Given the description of an element on the screen output the (x, y) to click on. 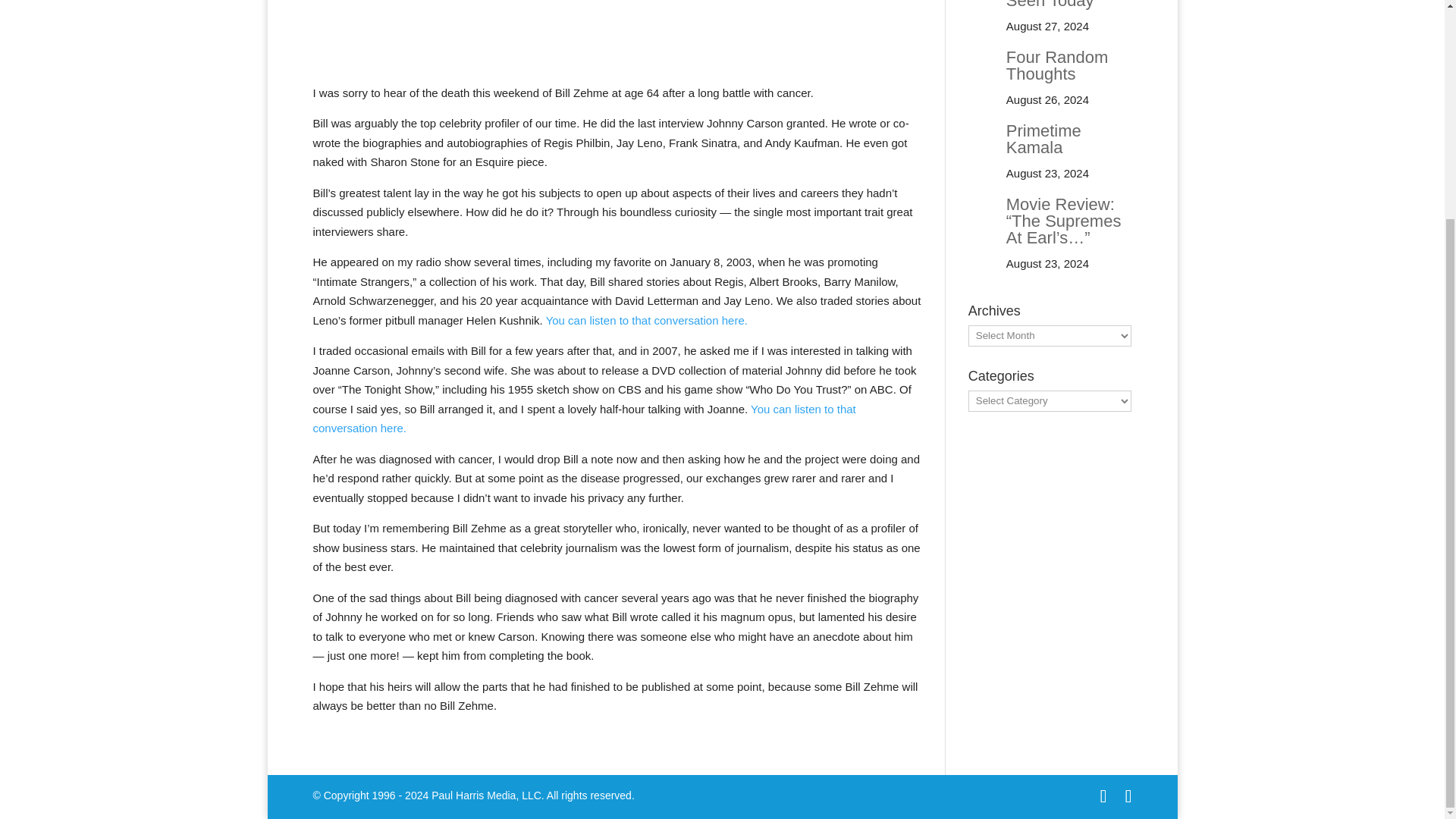
You can listen to that conversation here. (584, 418)
Four Random Thoughts (1057, 65)
You can listen to that conversation here. (647, 319)
Primetime Kamala (1043, 139)
